Given the description of an element on the screen output the (x, y) to click on. 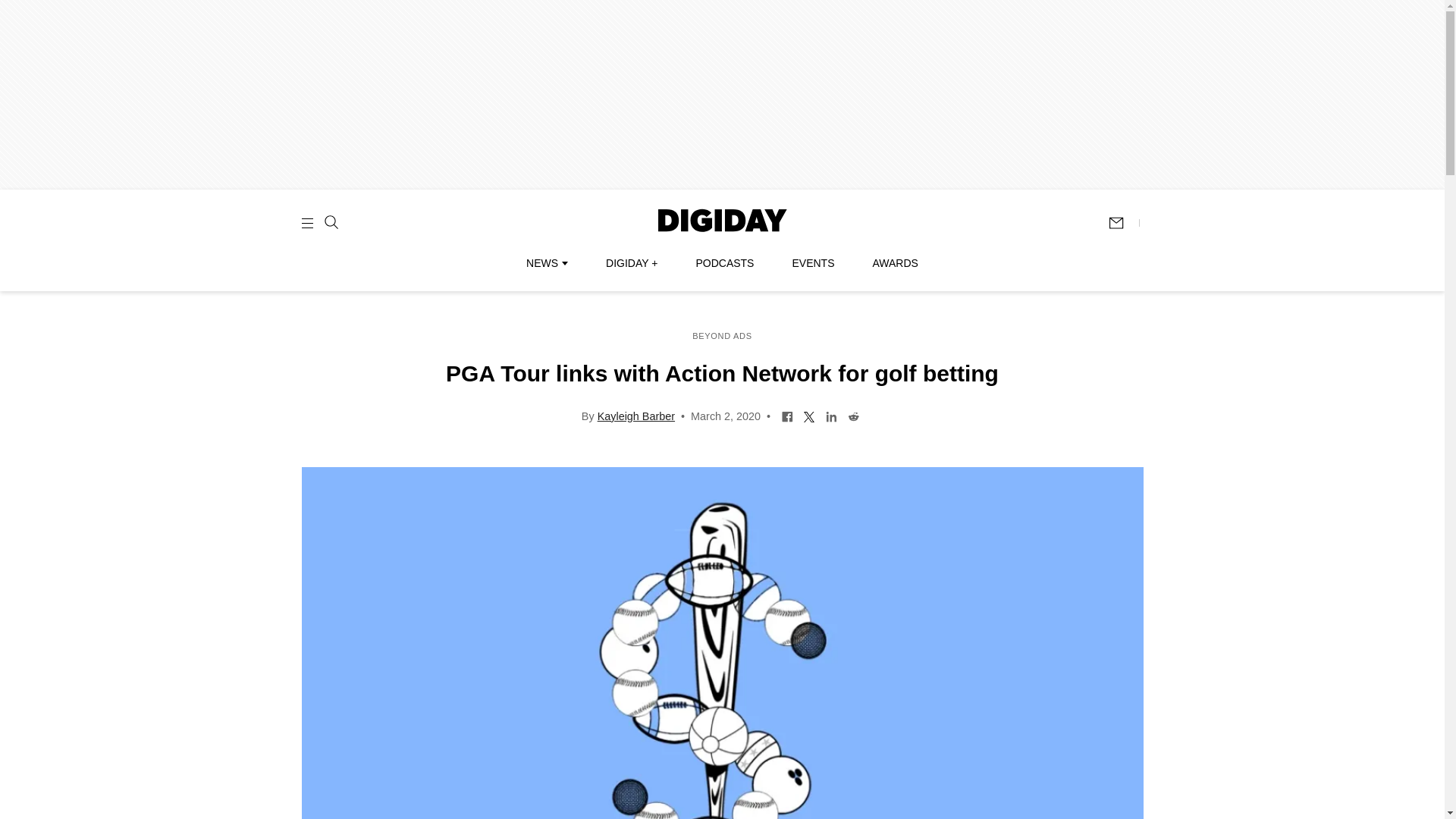
Share on Twitter (809, 415)
AWARDS (894, 262)
Share on LinkedIn (831, 415)
Share on Reddit (853, 415)
Subscribe (1123, 223)
NEWS (546, 262)
Share on Facebook (786, 415)
EVENTS (813, 262)
PODCASTS (725, 262)
